Given the description of an element on the screen output the (x, y) to click on. 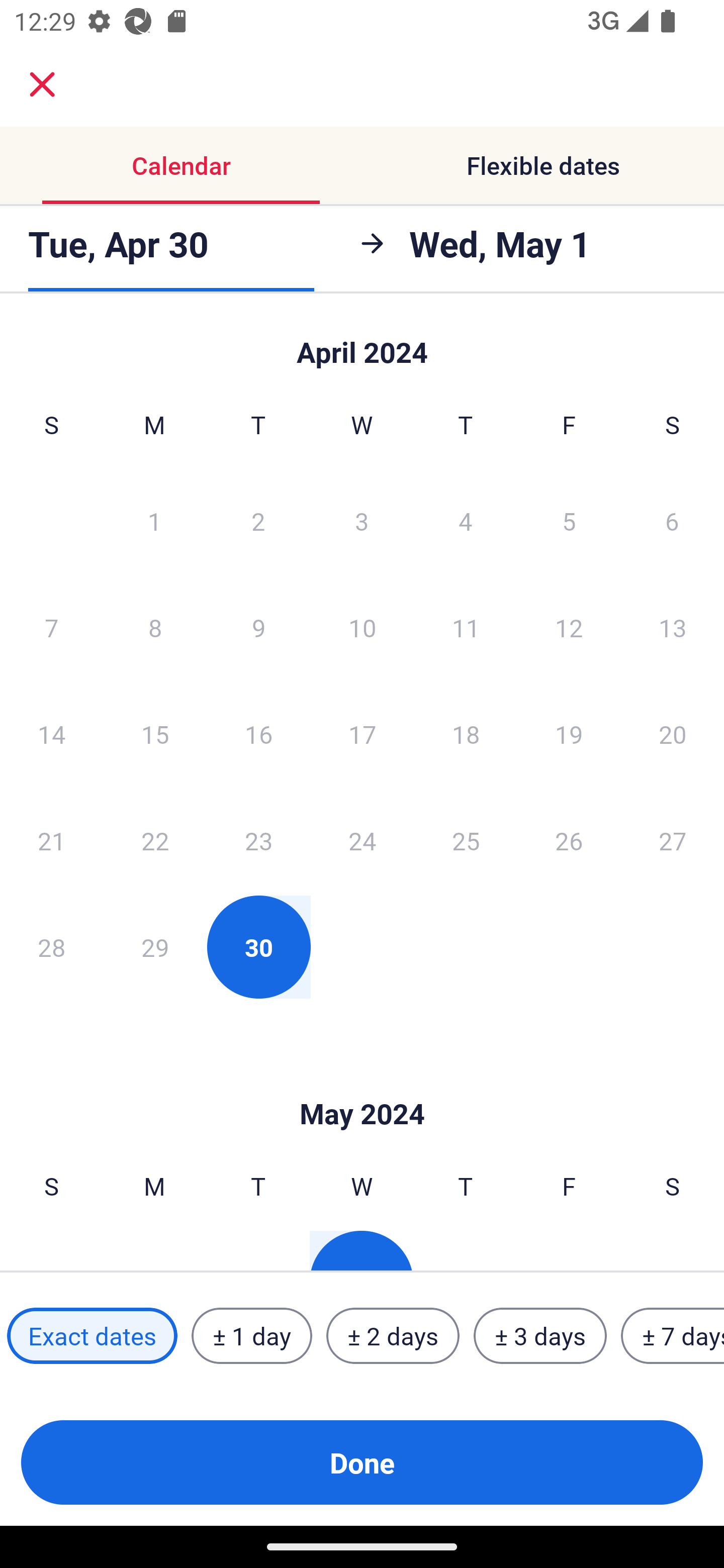
close. (42, 84)
Flexible dates (542, 164)
Skip to Done (362, 343)
1 Monday, April 1, 2024 (154, 520)
2 Tuesday, April 2, 2024 (257, 520)
3 Wednesday, April 3, 2024 (361, 520)
4 Thursday, April 4, 2024 (465, 520)
5 Friday, April 5, 2024 (568, 520)
6 Saturday, April 6, 2024 (672, 520)
7 Sunday, April 7, 2024 (51, 626)
8 Monday, April 8, 2024 (155, 626)
9 Tuesday, April 9, 2024 (258, 626)
10 Wednesday, April 10, 2024 (362, 626)
11 Thursday, April 11, 2024 (465, 626)
12 Friday, April 12, 2024 (569, 626)
13 Saturday, April 13, 2024 (672, 626)
14 Sunday, April 14, 2024 (51, 733)
15 Monday, April 15, 2024 (155, 733)
16 Tuesday, April 16, 2024 (258, 733)
17 Wednesday, April 17, 2024 (362, 733)
18 Thursday, April 18, 2024 (465, 733)
19 Friday, April 19, 2024 (569, 733)
20 Saturday, April 20, 2024 (672, 733)
21 Sunday, April 21, 2024 (51, 840)
22 Monday, April 22, 2024 (155, 840)
23 Tuesday, April 23, 2024 (258, 840)
24 Wednesday, April 24, 2024 (362, 840)
25 Thursday, April 25, 2024 (465, 840)
26 Friday, April 26, 2024 (569, 840)
27 Saturday, April 27, 2024 (672, 840)
28 Sunday, April 28, 2024 (51, 946)
29 Monday, April 29, 2024 (155, 946)
Skip to Done (362, 1083)
Exact dates (92, 1335)
± 1 day (251, 1335)
± 2 days (392, 1335)
± 3 days (539, 1335)
± 7 days (672, 1335)
Done (361, 1462)
